Given the description of an element on the screen output the (x, y) to click on. 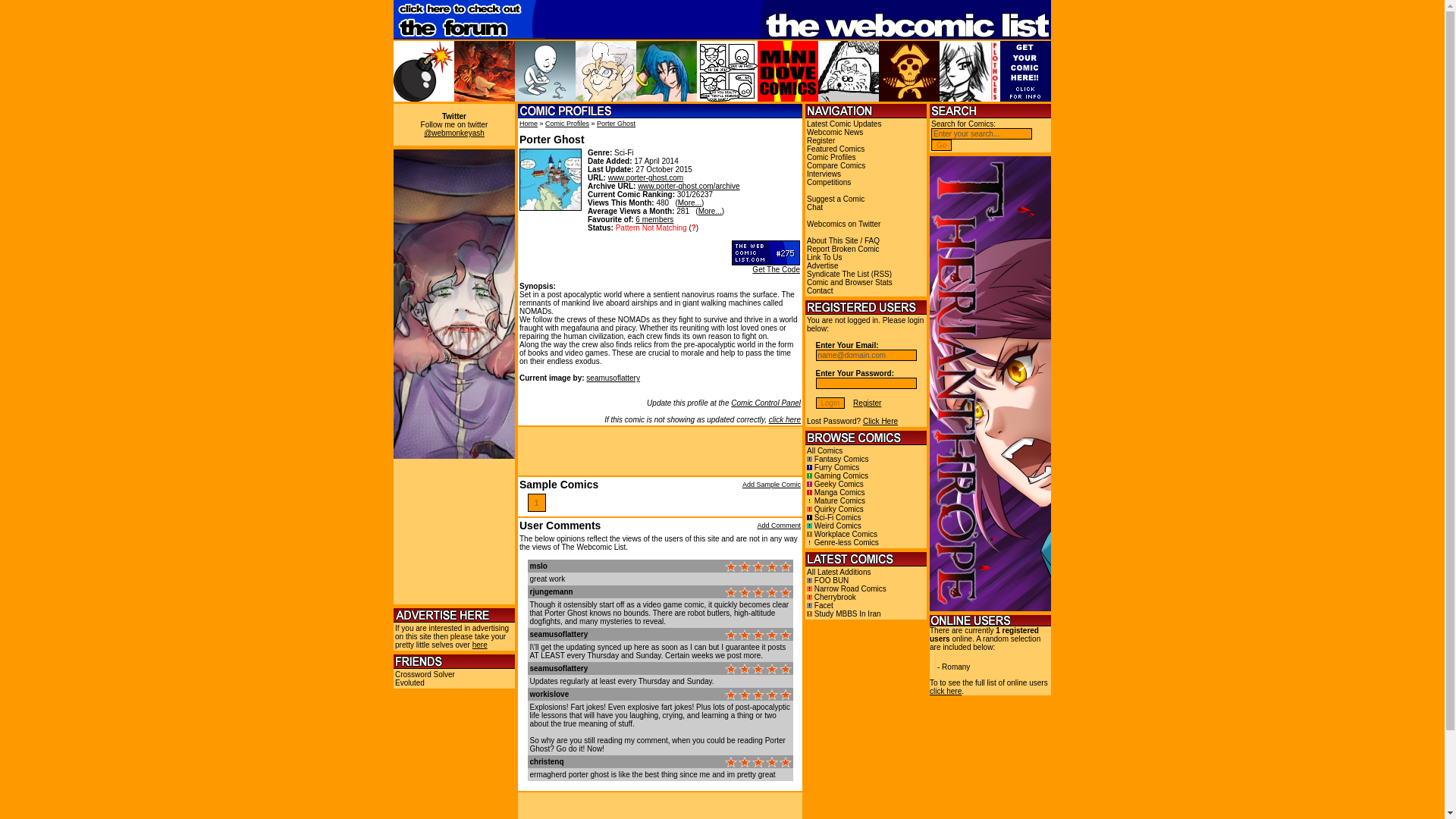
www.porter-ghost.com (645, 177)
Login (829, 402)
Porter Ghost (615, 123)
Comic Control Panel (765, 402)
Add Comment (778, 525)
Get The Code (775, 269)
workislove (549, 694)
seamusoflattery (558, 668)
Enter your search... (981, 133)
mslo (538, 565)
